Given the description of an element on the screen output the (x, y) to click on. 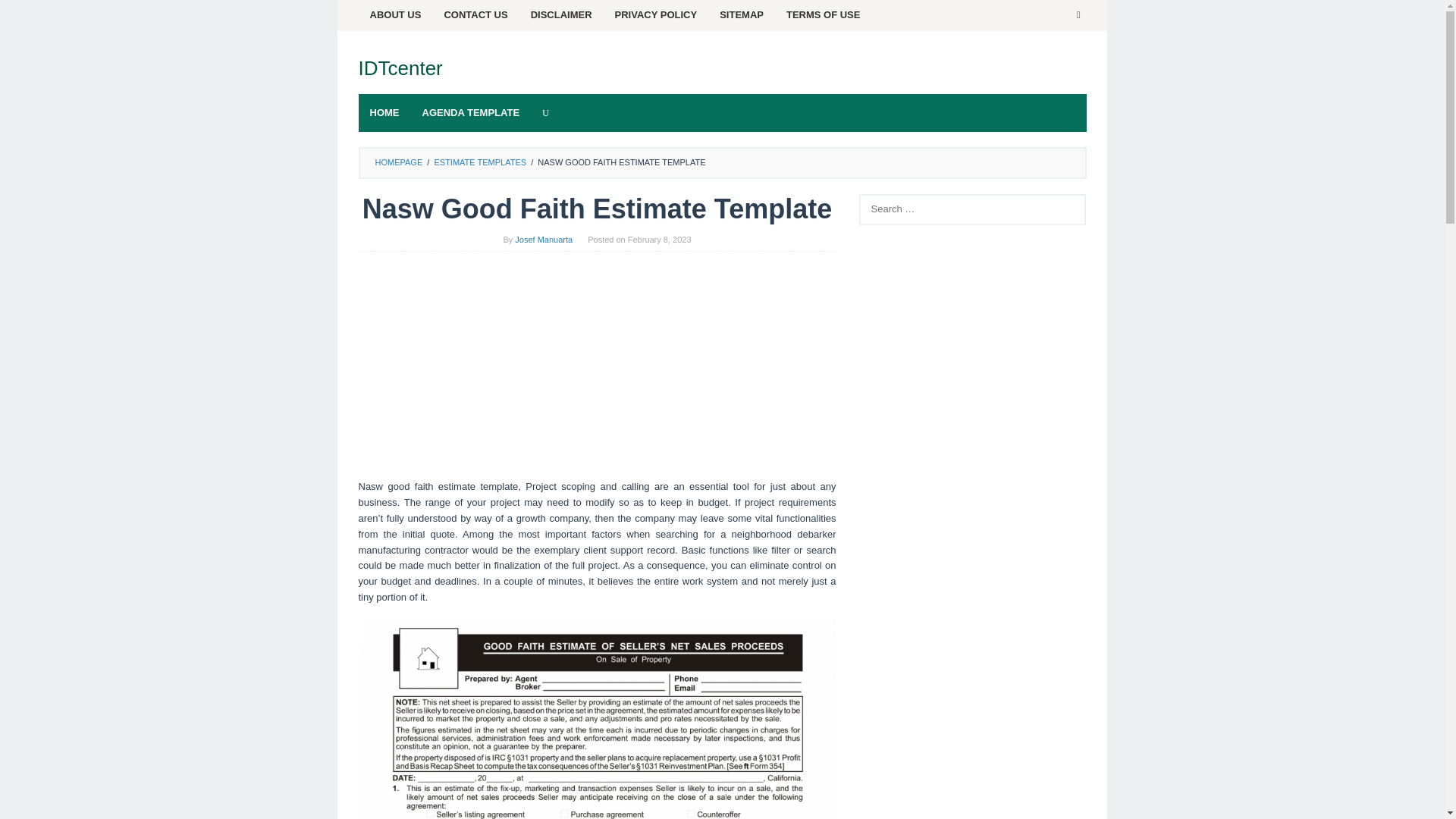
RSS (1078, 15)
HOMEPAGE (398, 162)
Search (27, 15)
Advertisement (596, 372)
Josef Manuarta (543, 239)
HOME (384, 112)
Advertisement (972, 780)
DISCLAIMER (561, 15)
IDTcenter (400, 67)
TERMS OF USE (823, 15)
Permalink to: Josef Manuarta (543, 239)
PRIVACY POLICY (656, 15)
ESTIMATE TEMPLATES (479, 162)
AGENDA TEMPLATE (470, 112)
ABOUT US (395, 15)
